Given the description of an element on the screen output the (x, y) to click on. 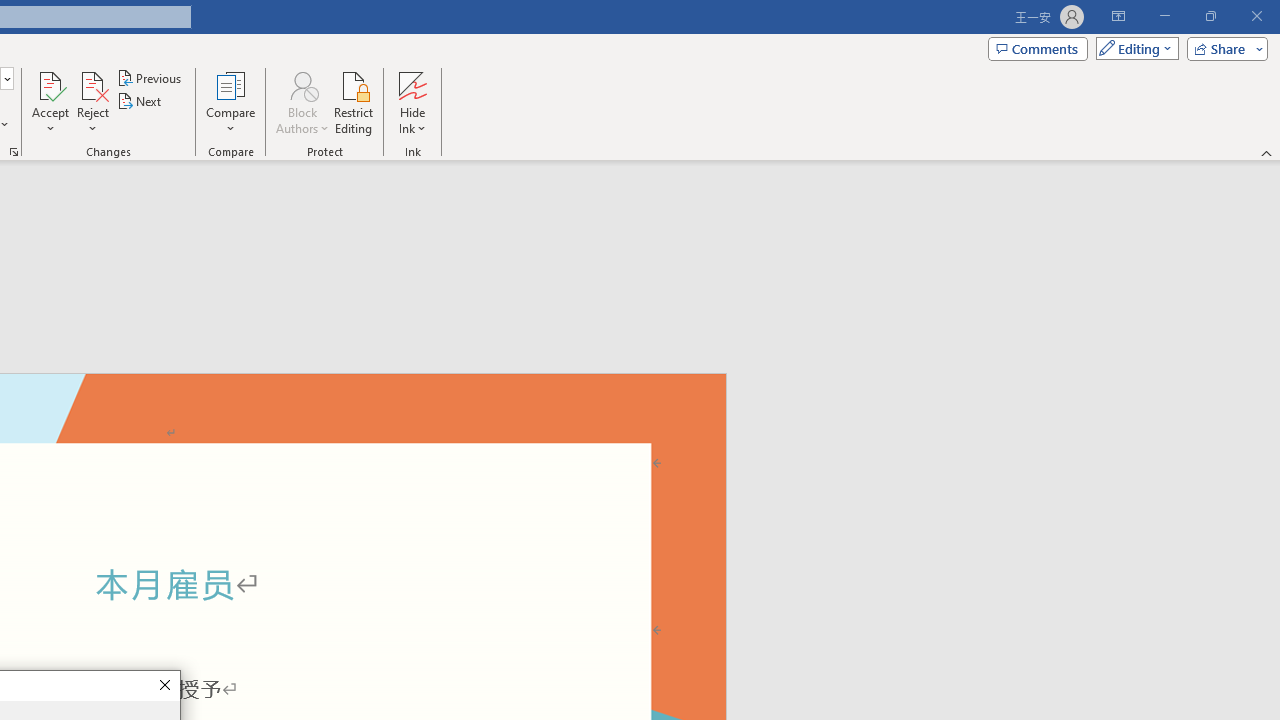
Hide Ink (412, 84)
Accept (50, 102)
Block Authors (302, 84)
Collapse the Ribbon (1267, 152)
Hide Ink (412, 102)
Change Tracking Options... (13, 151)
